Given the description of an element on the screen output the (x, y) to click on. 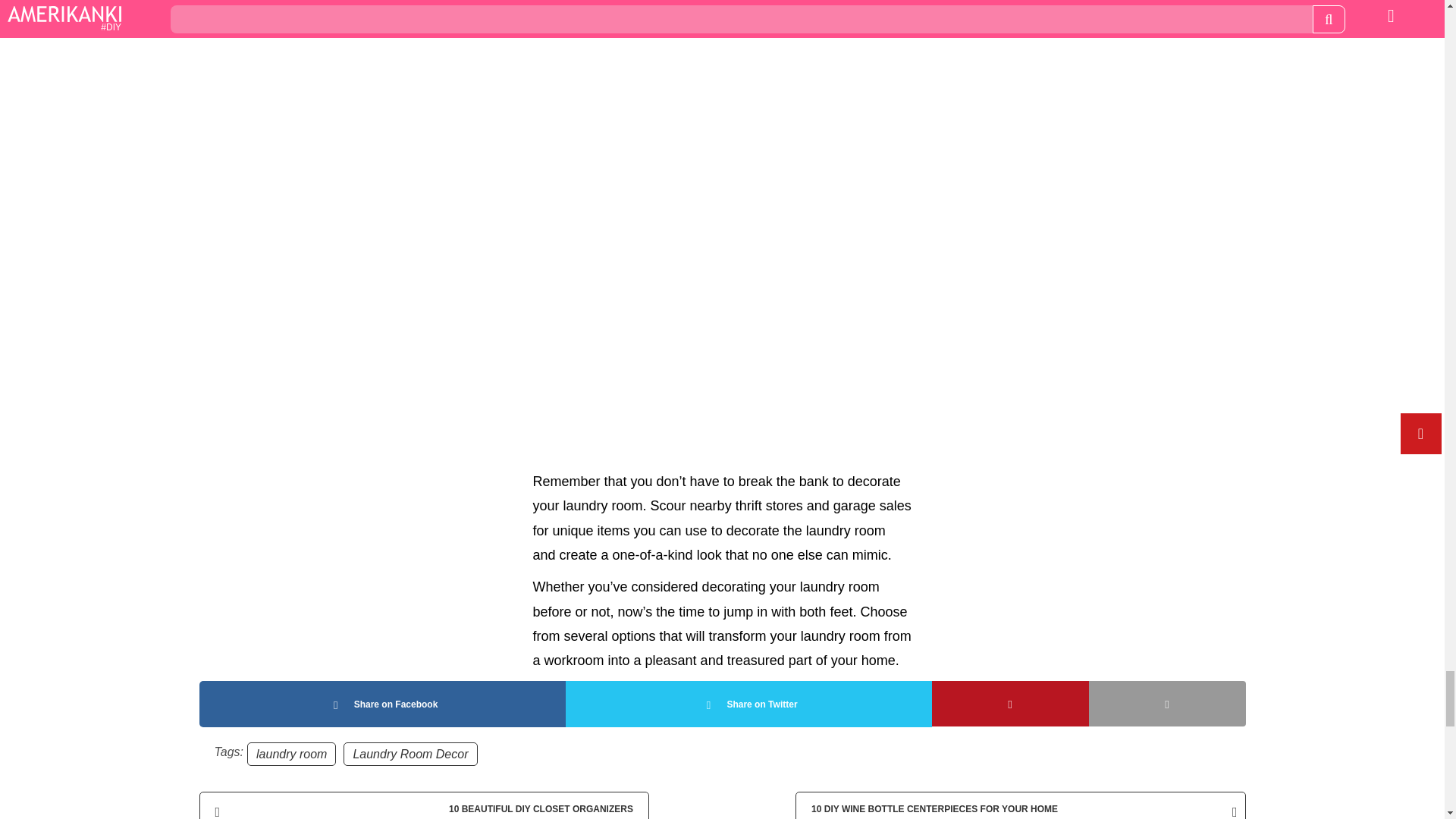
10 DIY Wine Bottle Centerpieces for Your Home (1019, 805)
Share on Twitter (748, 703)
10 BEAUTIFUL DIY CLOSET ORGANIZERS (422, 805)
10 DIY WINE BOTTLE CENTERPIECES FOR YOUR HOME (1019, 805)
Share on Facebook (381, 703)
10 Beautiful DIY Closet Organizers (422, 805)
